Given the description of an element on the screen output the (x, y) to click on. 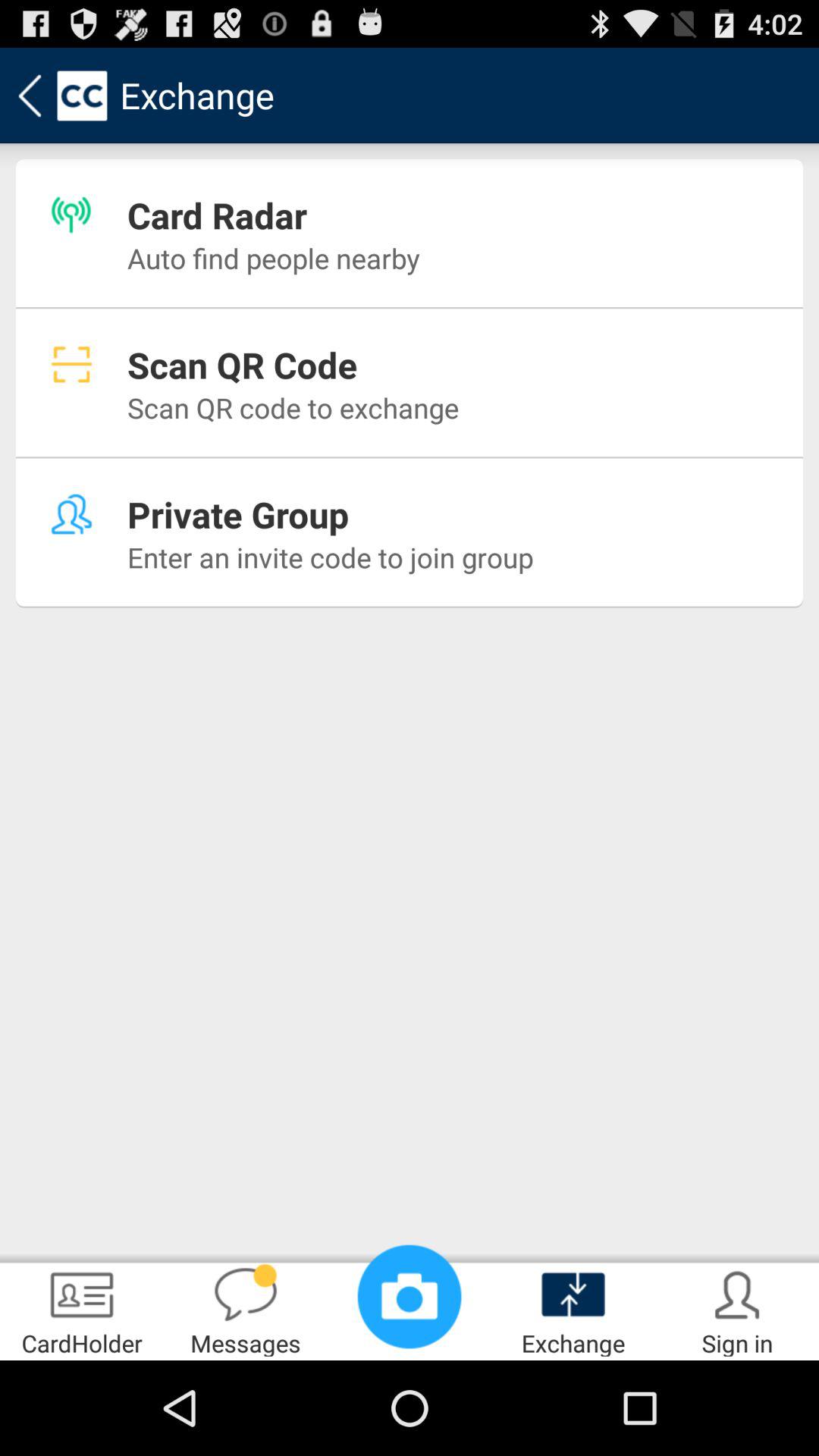
scroll to cardholder icon (81, 1309)
